Given the description of an element on the screen output the (x, y) to click on. 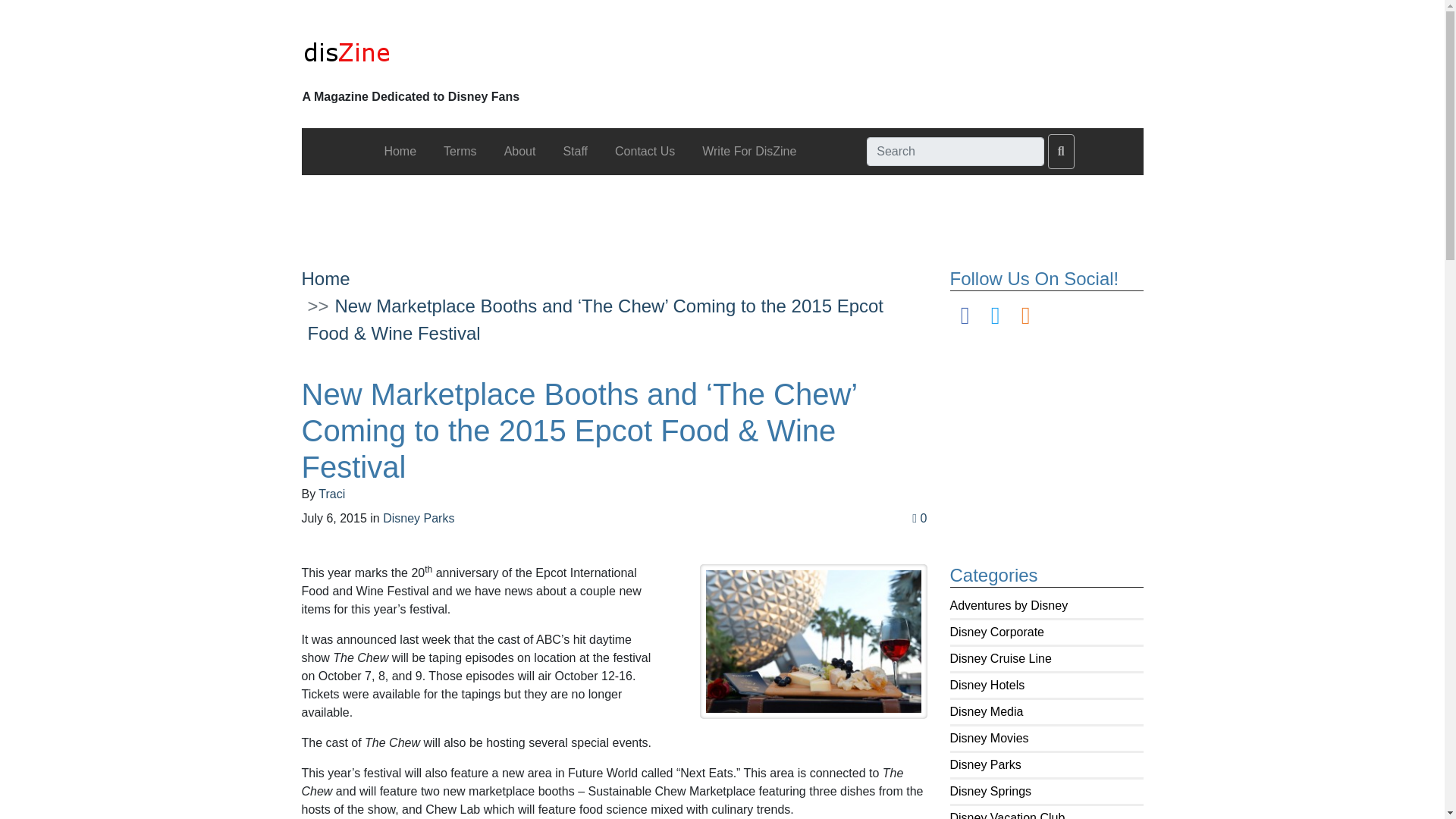
Disney Corporate (996, 631)
Write For DisZine (748, 151)
Disney Media (986, 711)
Disney Parks (984, 764)
Disney Springs (989, 790)
Home (325, 278)
Home (399, 151)
Disney Hotels (987, 684)
Advertisement (721, 209)
Adventures by Disney (1008, 604)
Disney Cruise Line (1000, 658)
Disney Vacation Club (1006, 815)
Advertisement (1062, 440)
Contact Us (644, 151)
Staff (575, 151)
